Given the description of an element on the screen output the (x, y) to click on. 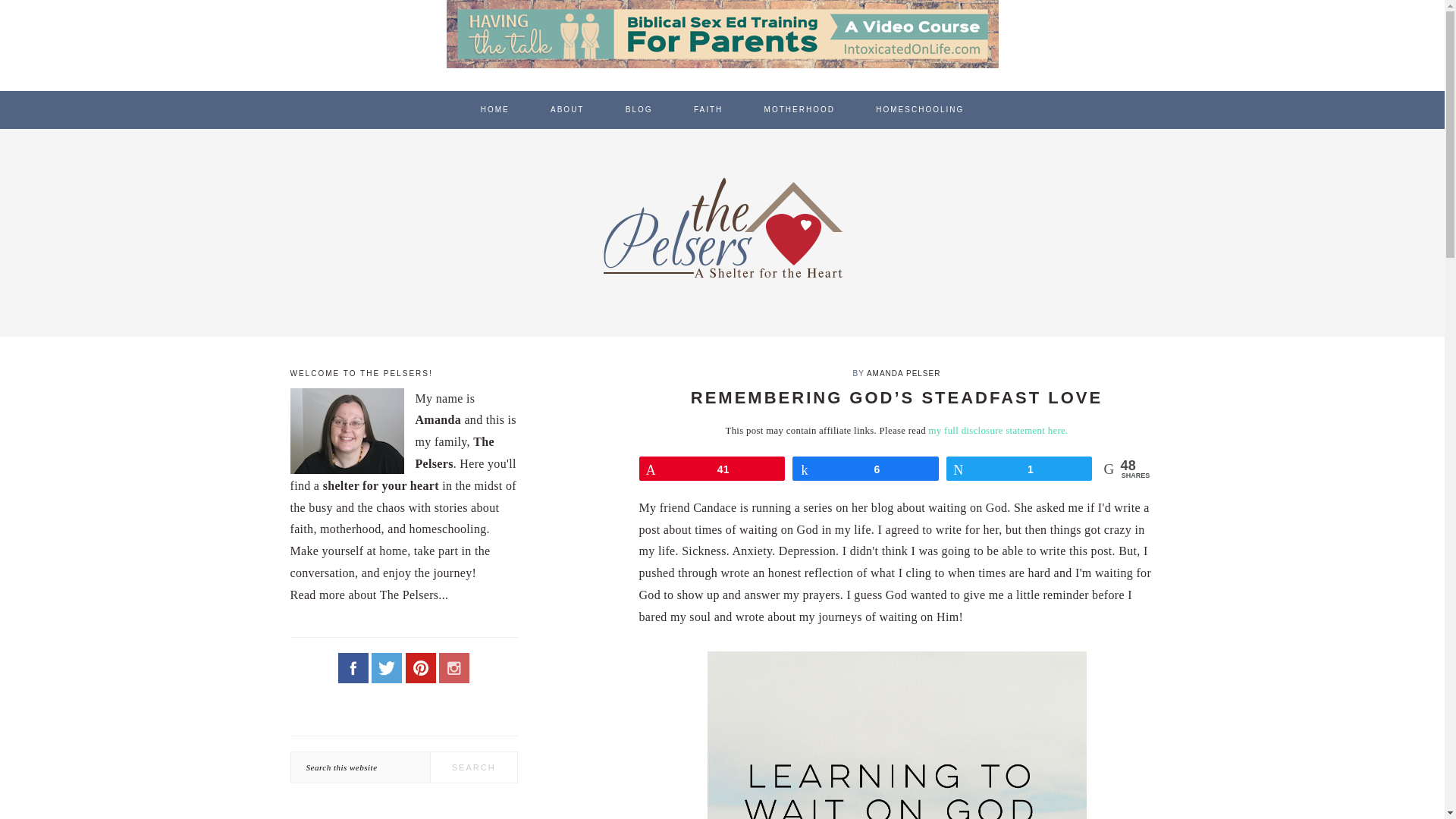
Amanda Pelser on Twitter (386, 667)
FAITH (708, 109)
my full disclosure statement here. (998, 430)
AMANDA PELSER (903, 373)
Read more about The Pelsers... (368, 594)
ABOUT (566, 109)
HOMESCHOOLING (919, 109)
Search (474, 766)
6 (865, 468)
HOME (494, 109)
THE PELSERS (721, 227)
41 (712, 468)
Search (474, 766)
BLOG (639, 109)
